Given the description of an element on the screen output the (x, y) to click on. 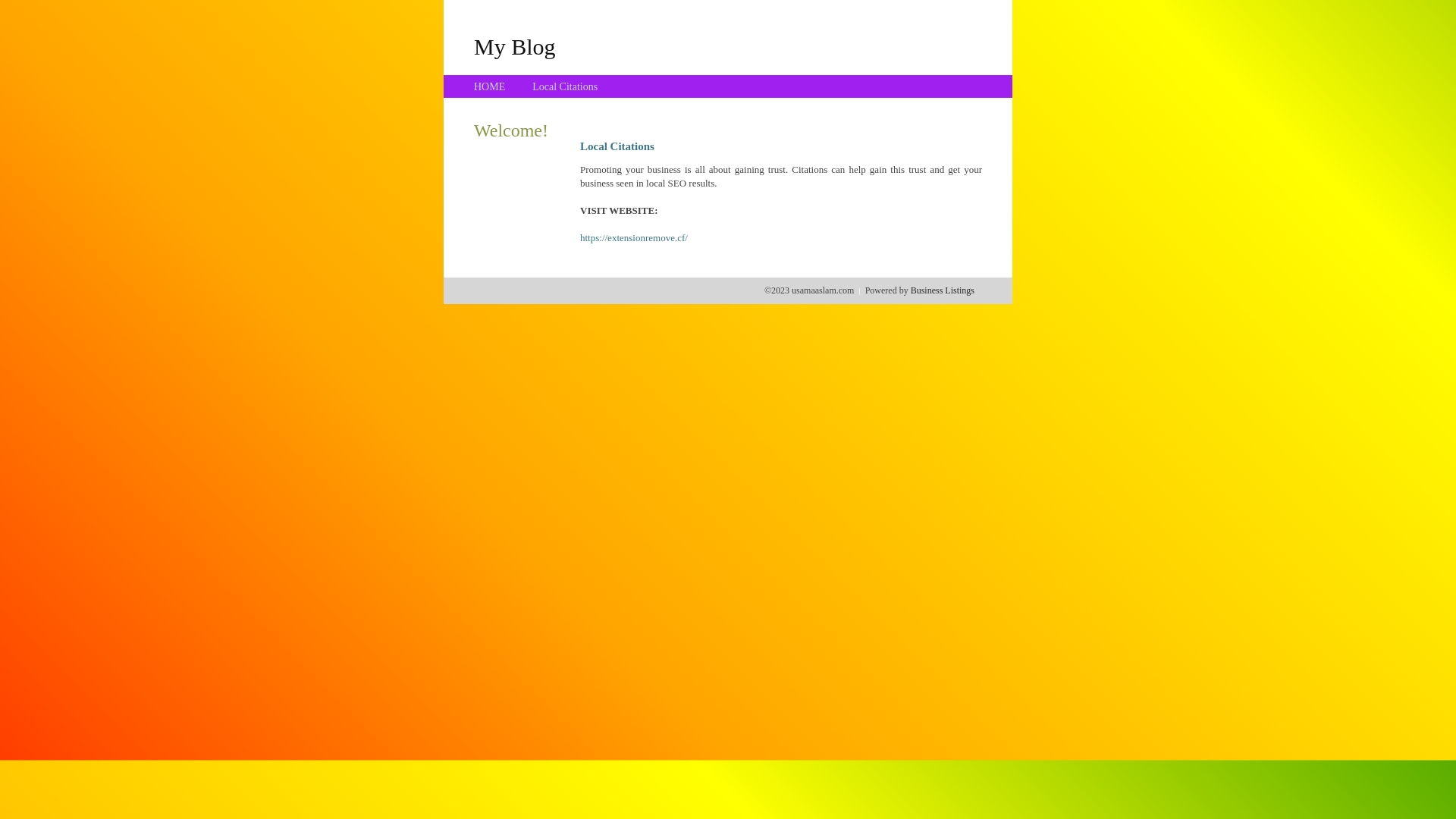
https://extensionremove.cf/ Element type: text (633, 237)
My Blog Element type: text (514, 46)
Local Citations Element type: text (564, 86)
Business Listings Element type: text (942, 290)
HOME Element type: text (489, 86)
